Given the description of an element on the screen output the (x, y) to click on. 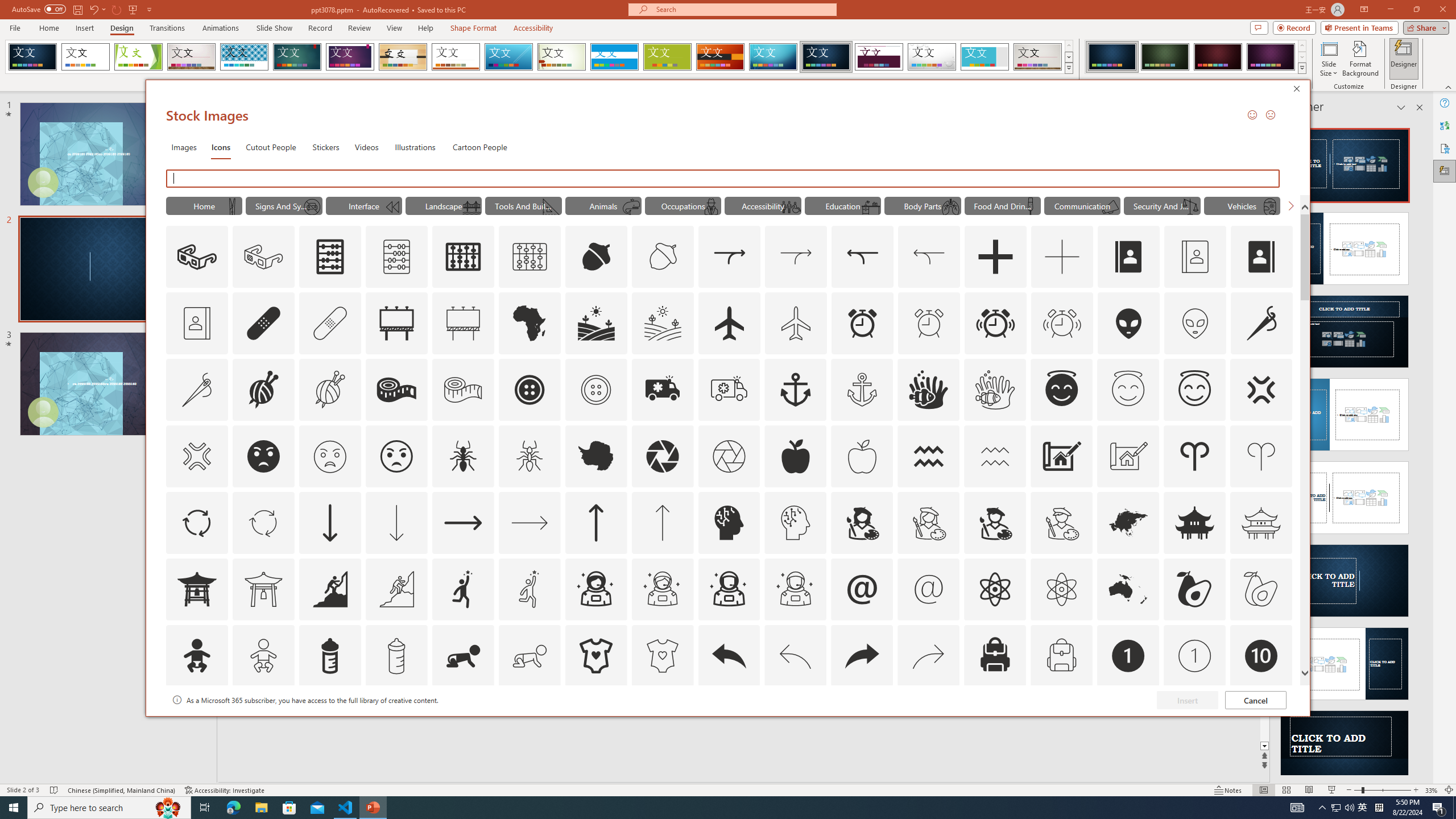
"Landscape" Icons. (443, 205)
AutomationID: Icons_AngerSymbol (1260, 389)
AutomationID: Icons_Badge1_M (1194, 655)
AutomationID: Icons_Badge5 (662, 721)
AutomationID: Icons_PlaneWindow_M (1269, 206)
AutomationID: Icons_BabyOnesie (595, 655)
AutomationID: Icons_Badge2 (263, 721)
